Given the description of an element on the screen output the (x, y) to click on. 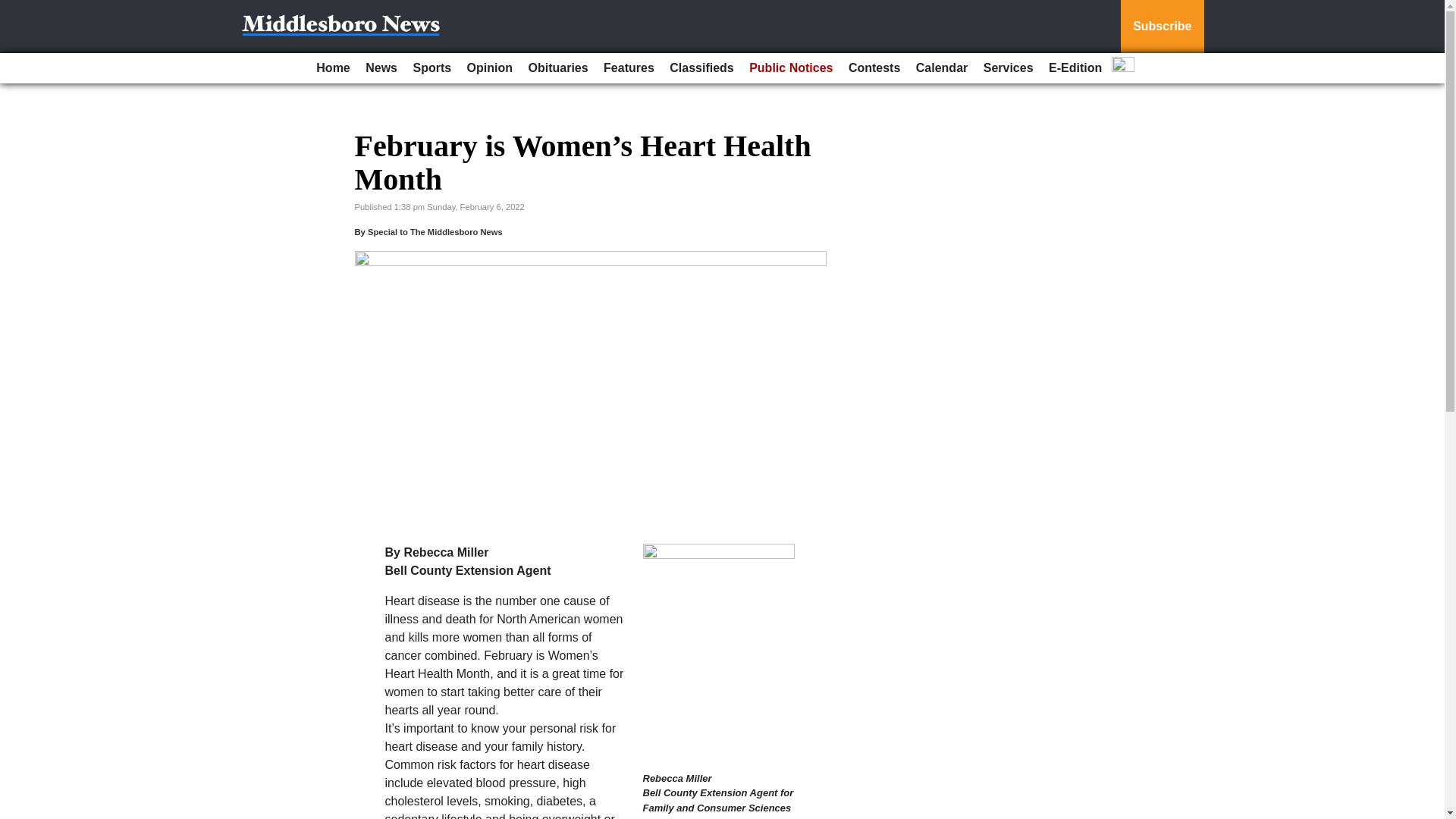
Go (13, 9)
Calendar (942, 68)
Services (1007, 68)
Special to The Middlesboro News (435, 231)
News (381, 68)
Opinion (489, 68)
Subscribe (1162, 26)
Features (628, 68)
Public Notices (790, 68)
Classifieds (701, 68)
